Given the description of an element on the screen output the (x, y) to click on. 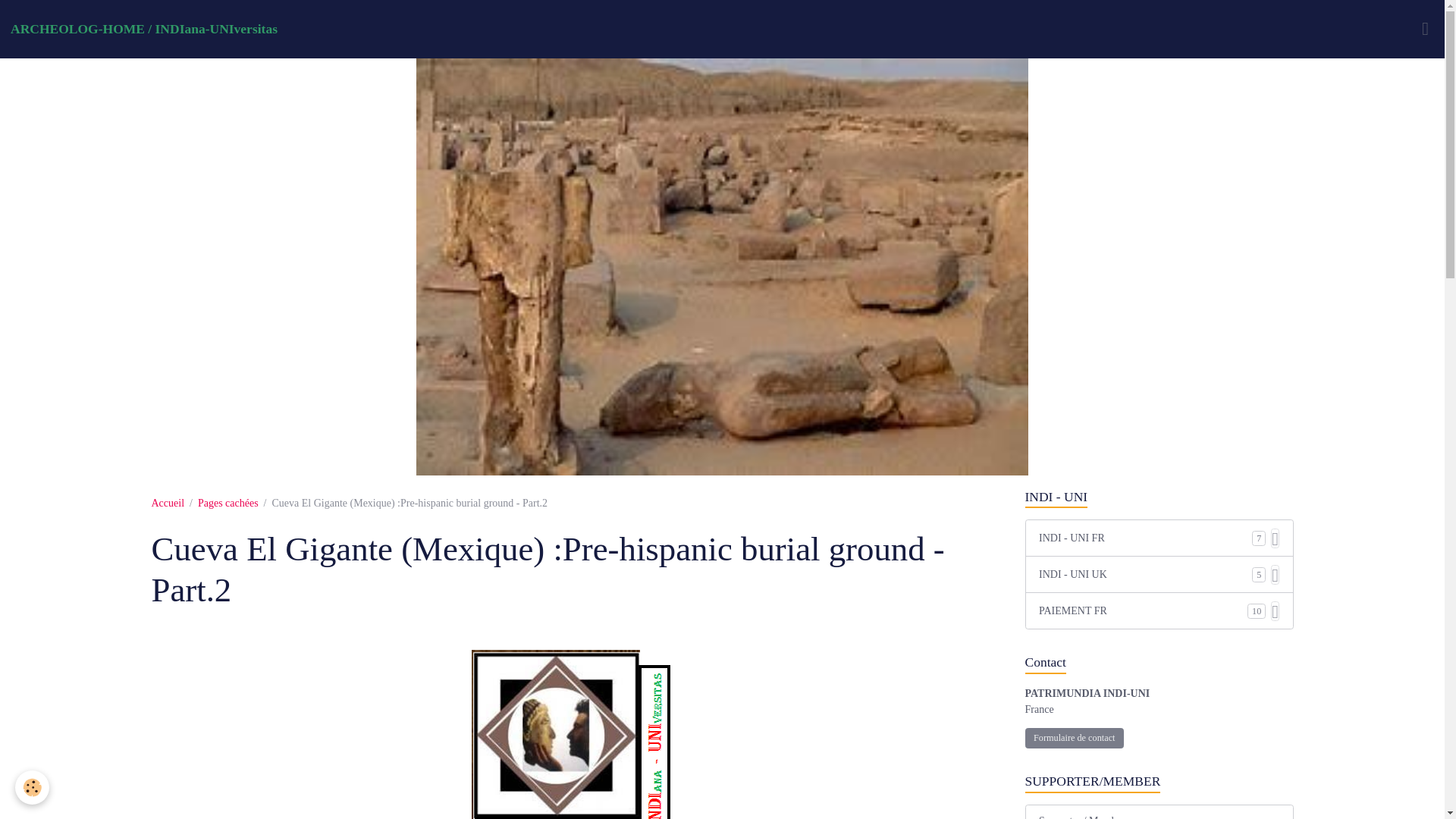
INDI - UNI FR (1145, 537)
Accueil (167, 502)
INDI - UNI UK (1145, 574)
PAIEMENT FR (1143, 610)
INDI - UNI (1159, 496)
Formulaire de contact (1074, 738)
